Given the description of an element on the screen output the (x, y) to click on. 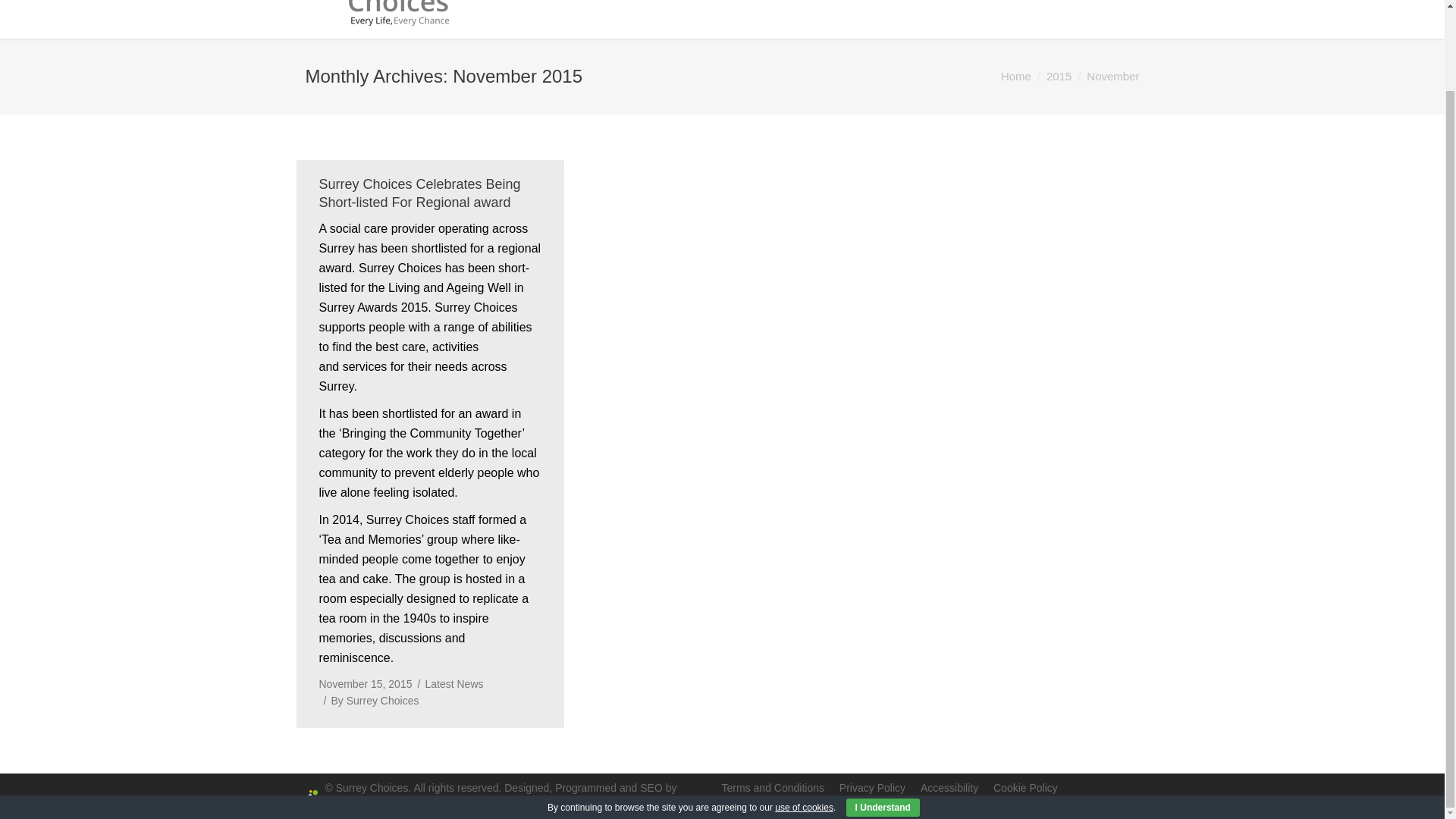
View all posts by Surrey Choices (371, 700)
What We Do (880, 1)
Home (633, 1)
Why Surrey Choices (746, 1)
12:00 am (365, 683)
